Given the description of an element on the screen output the (x, y) to click on. 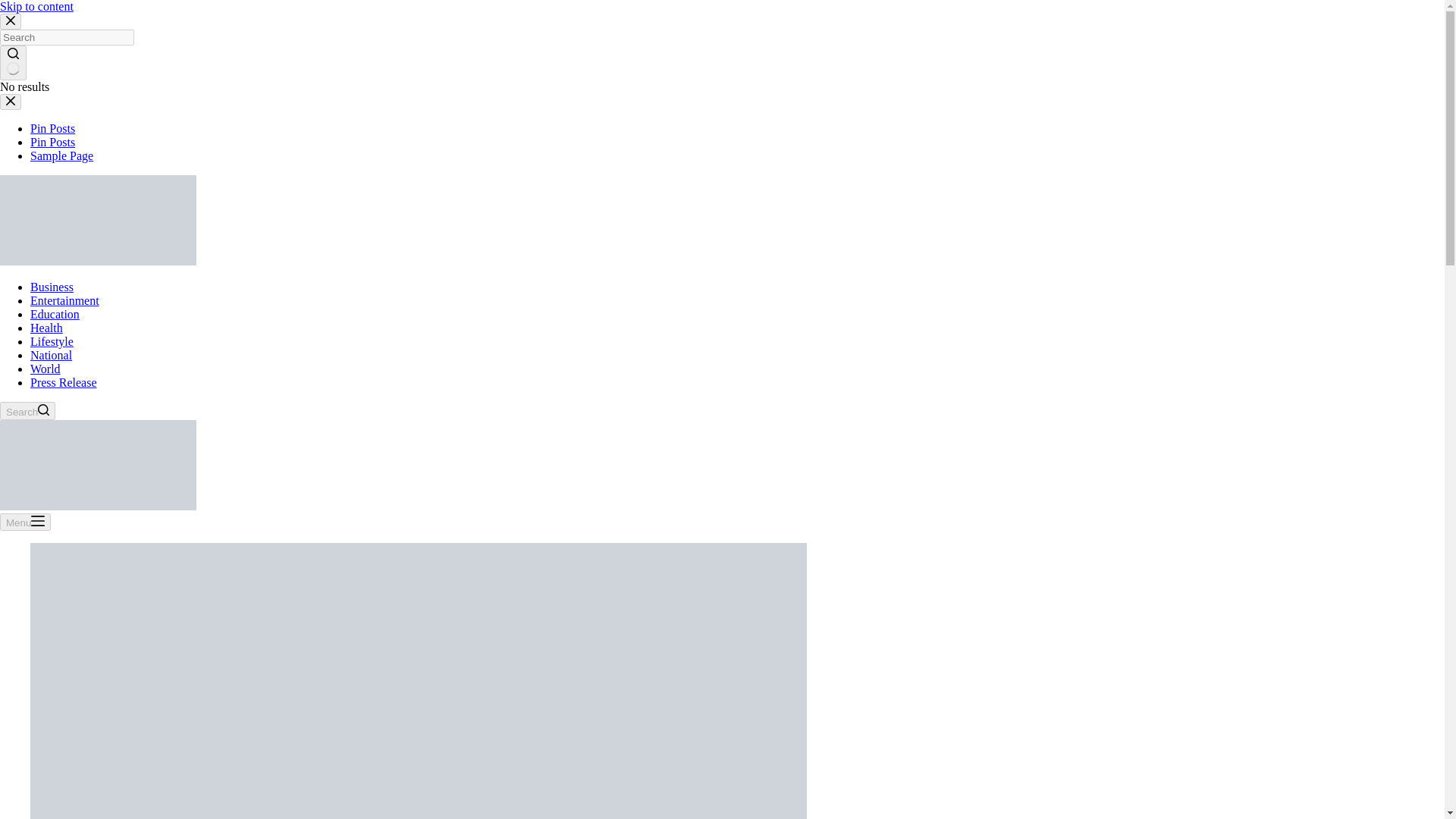
Health (46, 327)
Education (55, 314)
Entertainment (64, 300)
Business (52, 286)
World (45, 368)
Pin Posts (52, 141)
Pin Posts (52, 128)
Skip to content (37, 6)
Press Release (63, 382)
National (50, 354)
